Given the description of an element on the screen output the (x, y) to click on. 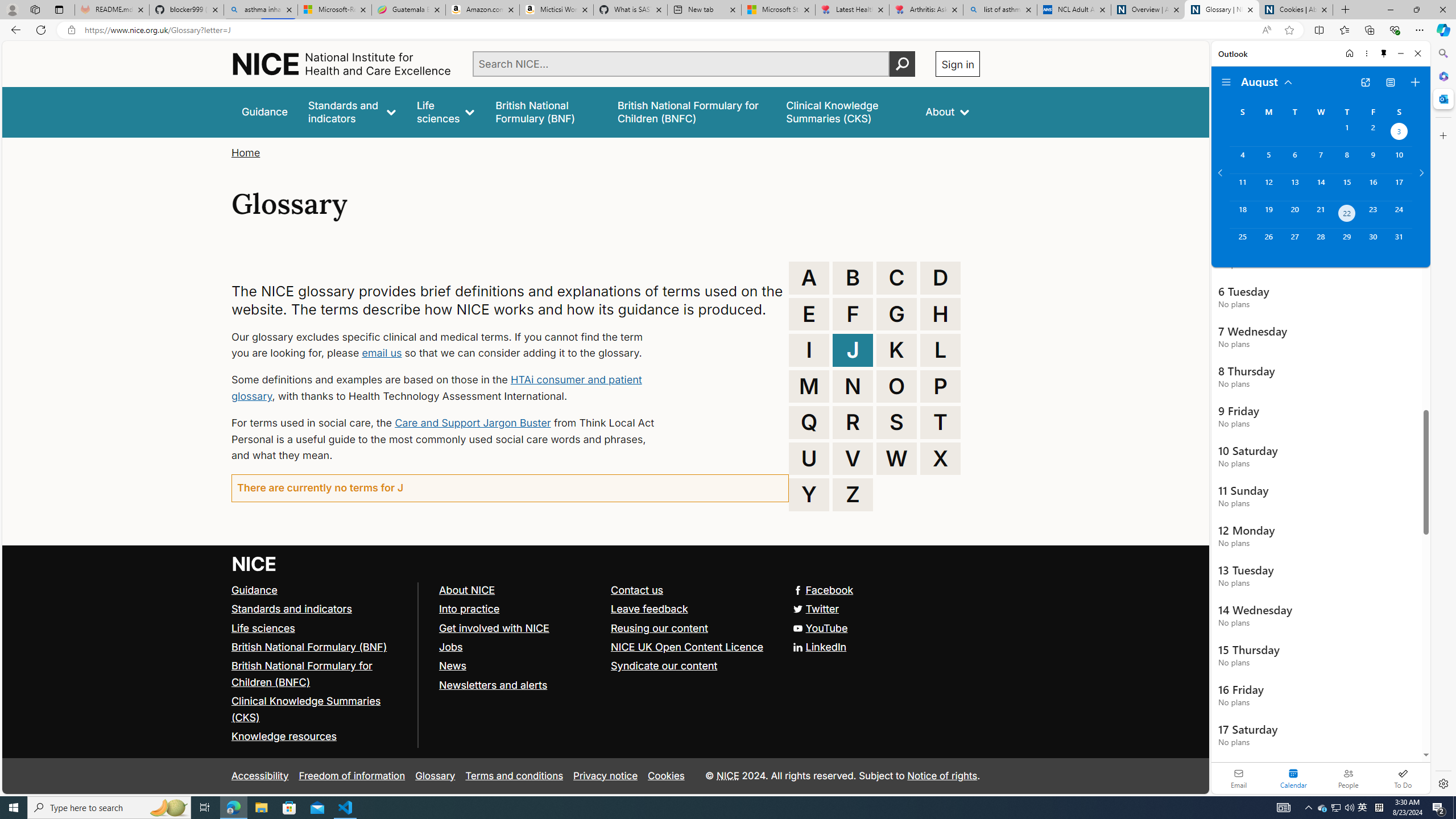
N (852, 385)
Open in new tab (1365, 82)
I (809, 350)
Tuesday, August 13, 2024.  (1294, 186)
LinkedIn (605, 647)
Contact us (637, 589)
O (896, 385)
Facebook (605, 589)
Monday, August 19, 2024.  (1268, 214)
Leave feedback (692, 609)
Saturday, August 24, 2024.  (1399, 214)
Friday, August 23, 2024.  (1372, 214)
Accessibility (259, 775)
Terms and conditions (514, 775)
